Given the description of an element on the screen output the (x, y) to click on. 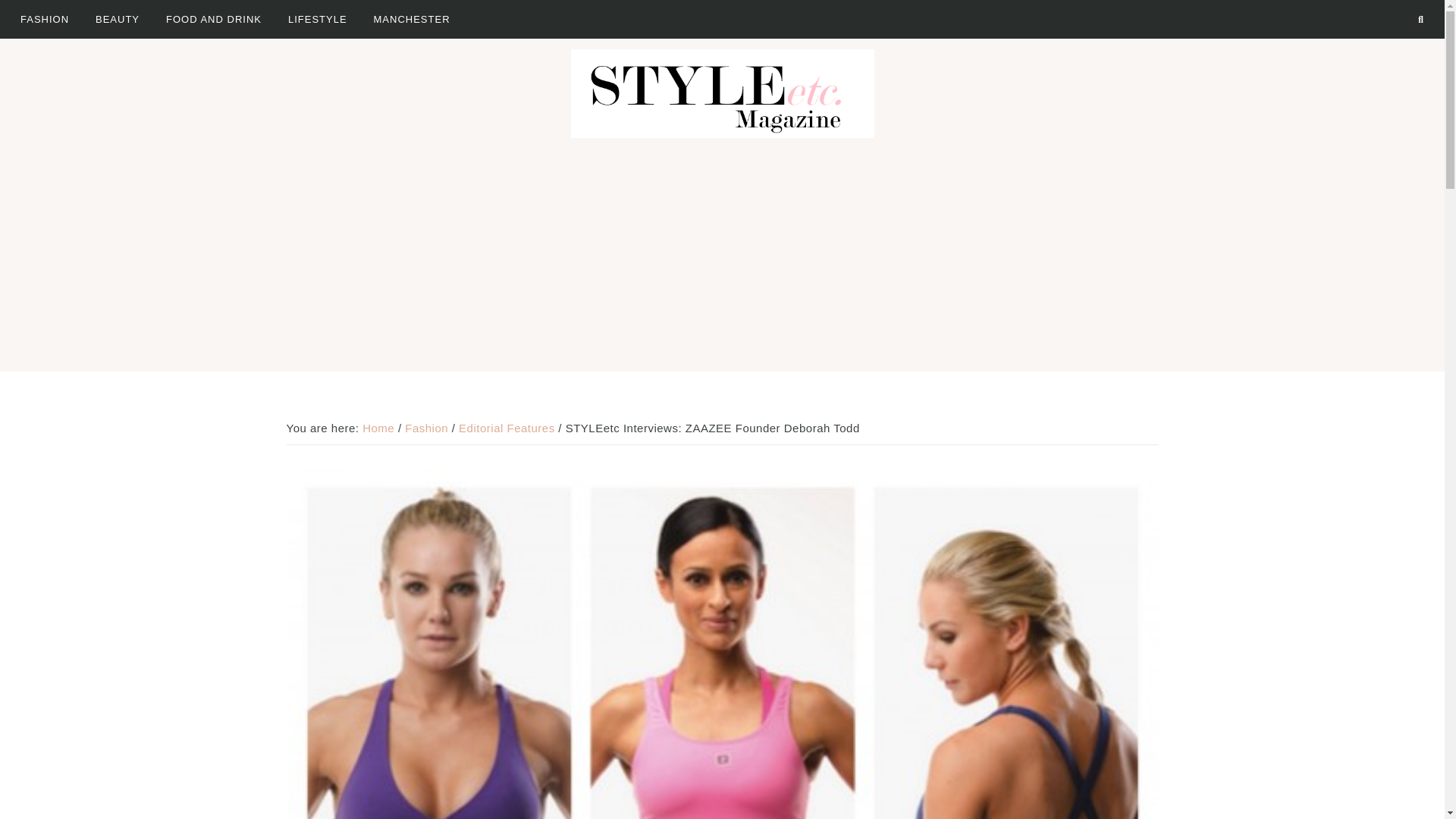
MANCHESTER (411, 18)
FASHION (44, 18)
FOOD AND DRINK (213, 18)
LIFESTYLE (317, 18)
BEAUTY (117, 18)
Fashion (44, 18)
Beauty (117, 18)
